Given the description of an element on the screen output the (x, y) to click on. 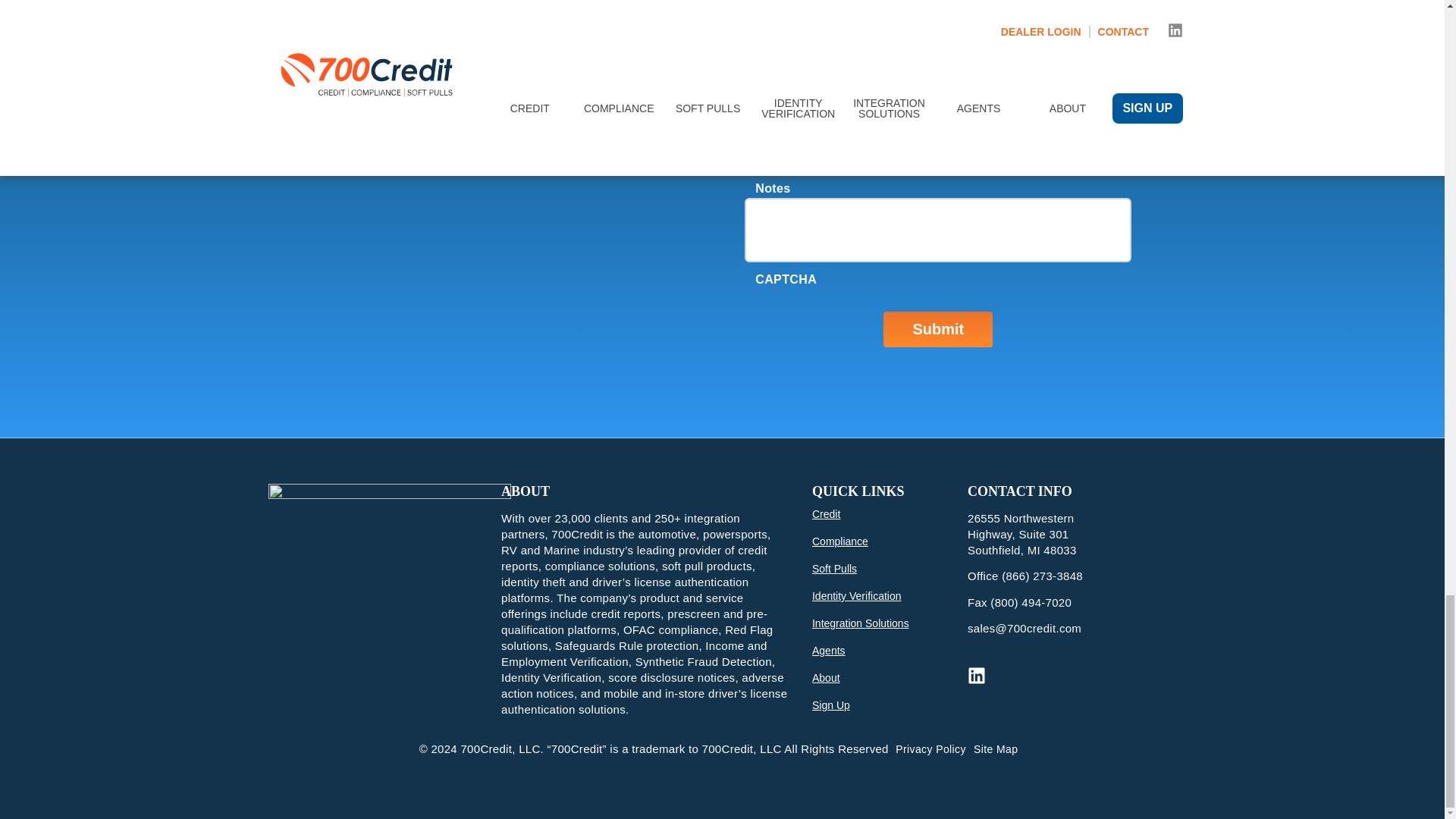
Soft Pulls (767, 133)
Submit (937, 329)
Compliance (767, 112)
Credit Reports (767, 91)
